Given the description of an element on the screen output the (x, y) to click on. 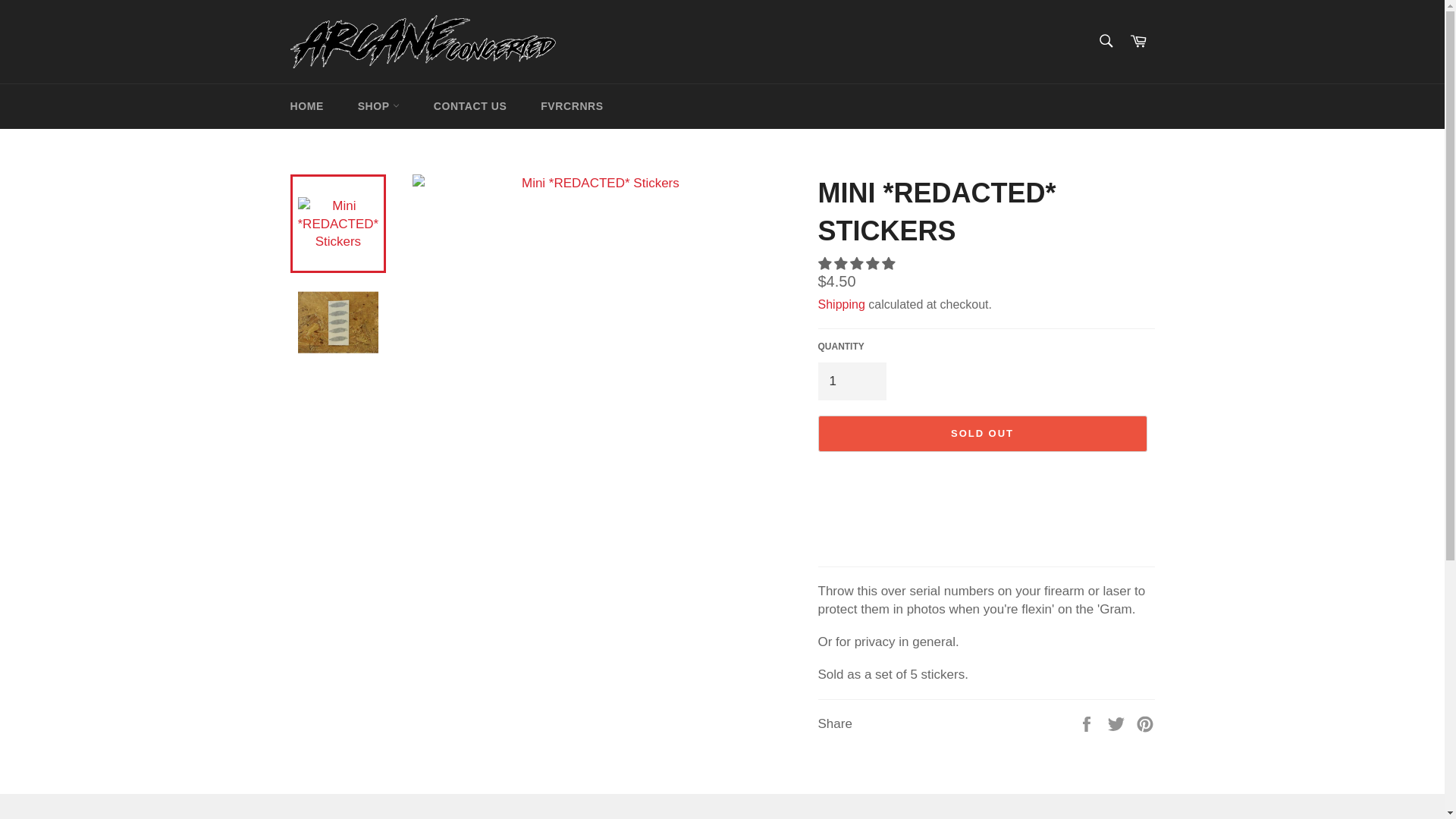
Shipping (840, 304)
FVRCRNRS (571, 106)
Tweet on Twitter (1117, 723)
SOLD OUT (981, 433)
Pin on Pinterest (1144, 723)
Search (1104, 40)
Tweet on Twitter (1117, 723)
SHOP (378, 106)
HOME (306, 106)
Share on Facebook (1088, 723)
1 (850, 380)
Share on Facebook (1088, 723)
Pin on Pinterest (1144, 723)
CONTACT US (470, 106)
Cart (1138, 41)
